Given the description of an element on the screen output the (x, y) to click on. 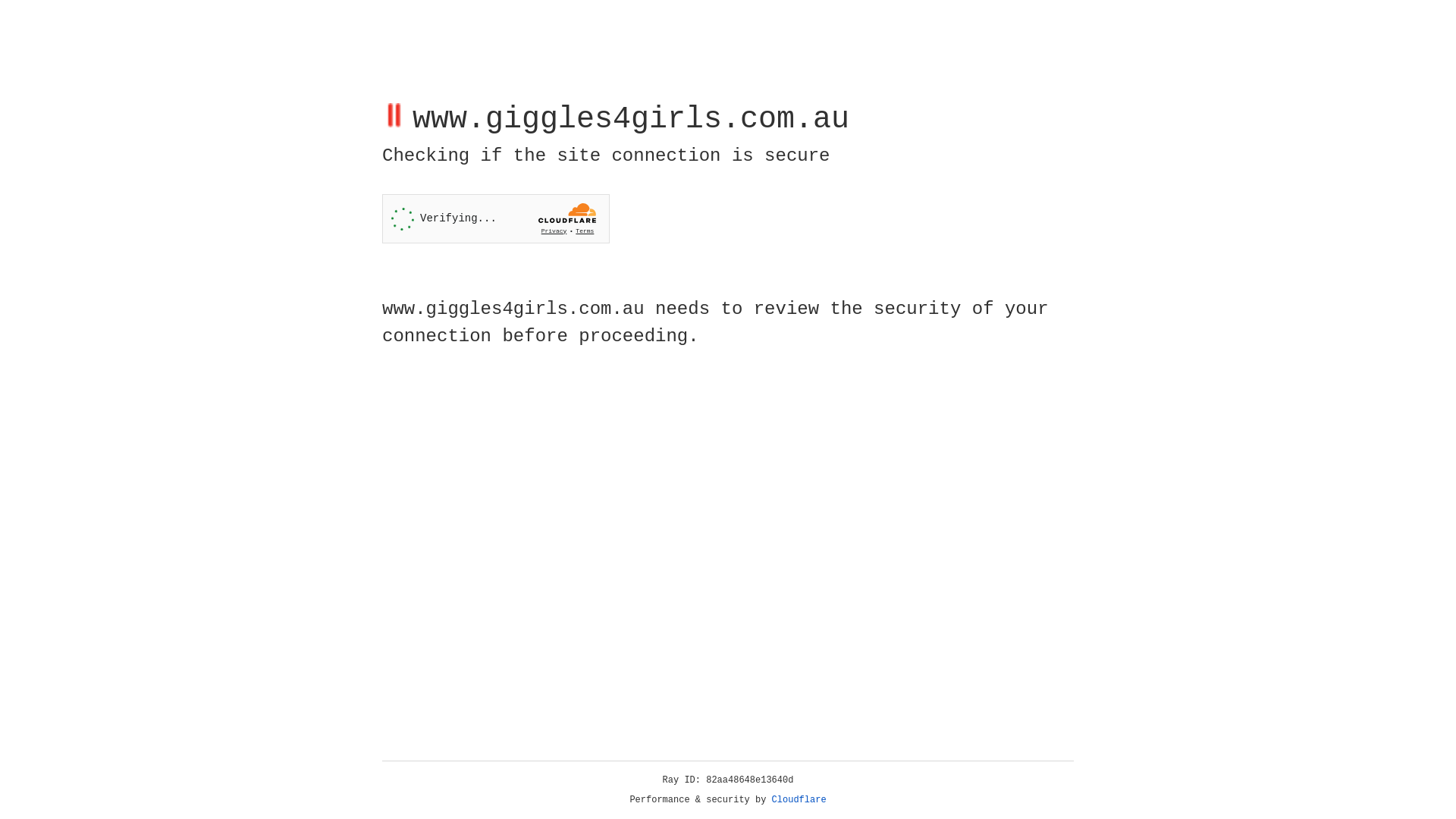
Cloudflare Element type: text (798, 799)
Widget containing a Cloudflare security challenge Element type: hover (495, 218)
